Given the description of an element on the screen output the (x, y) to click on. 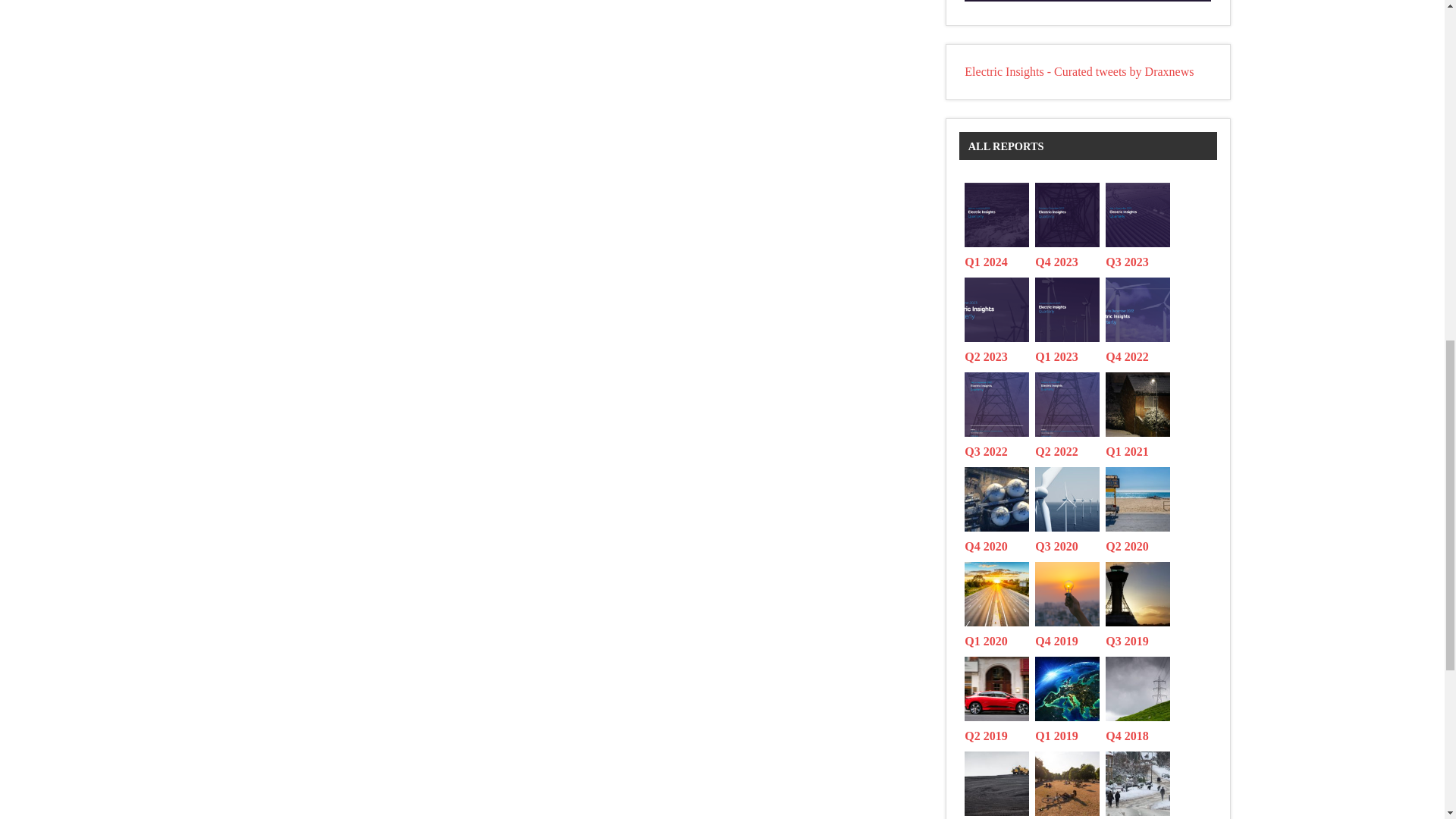
Q1 2018 (1140, 782)
Q2 2018 (1070, 782)
Electric Insights - Curated tweets by Draxnews (1078, 71)
Q3 2018 (999, 782)
